Given the description of an element on the screen output the (x, y) to click on. 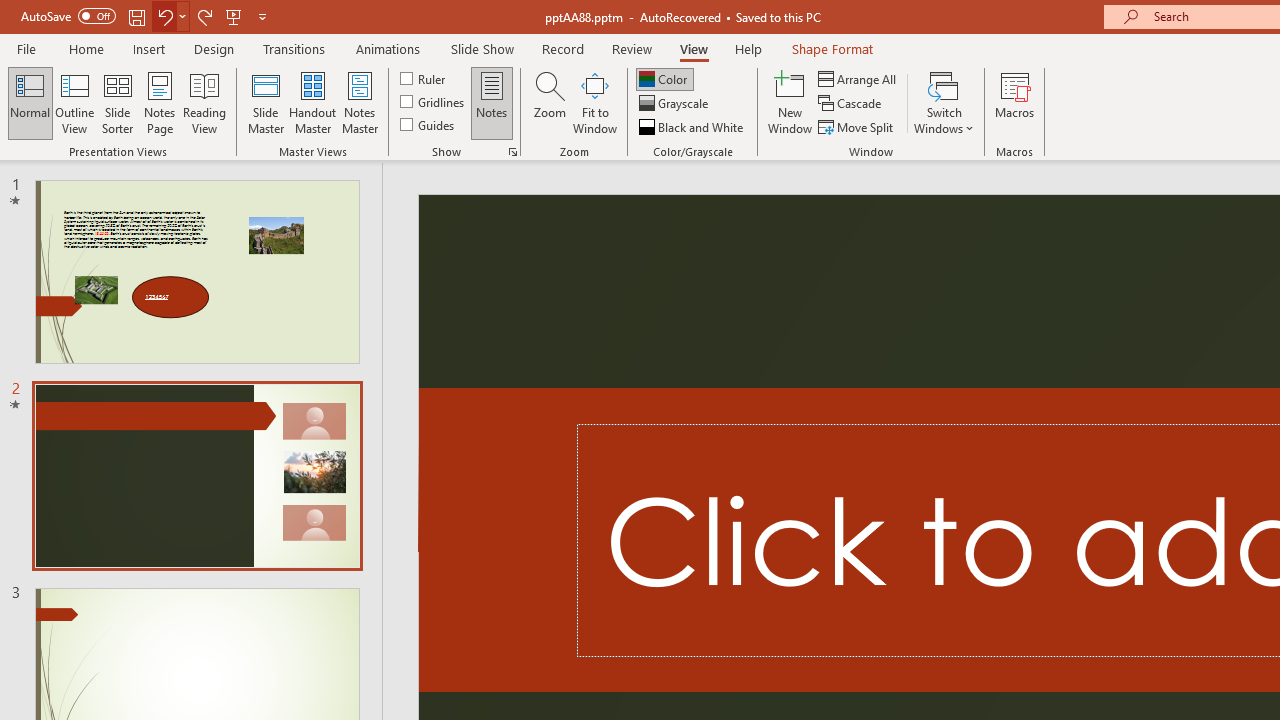
Handout Master (312, 102)
New Window (790, 102)
Notes Page (159, 102)
Notes (492, 102)
